Given the description of an element on the screen output the (x, y) to click on. 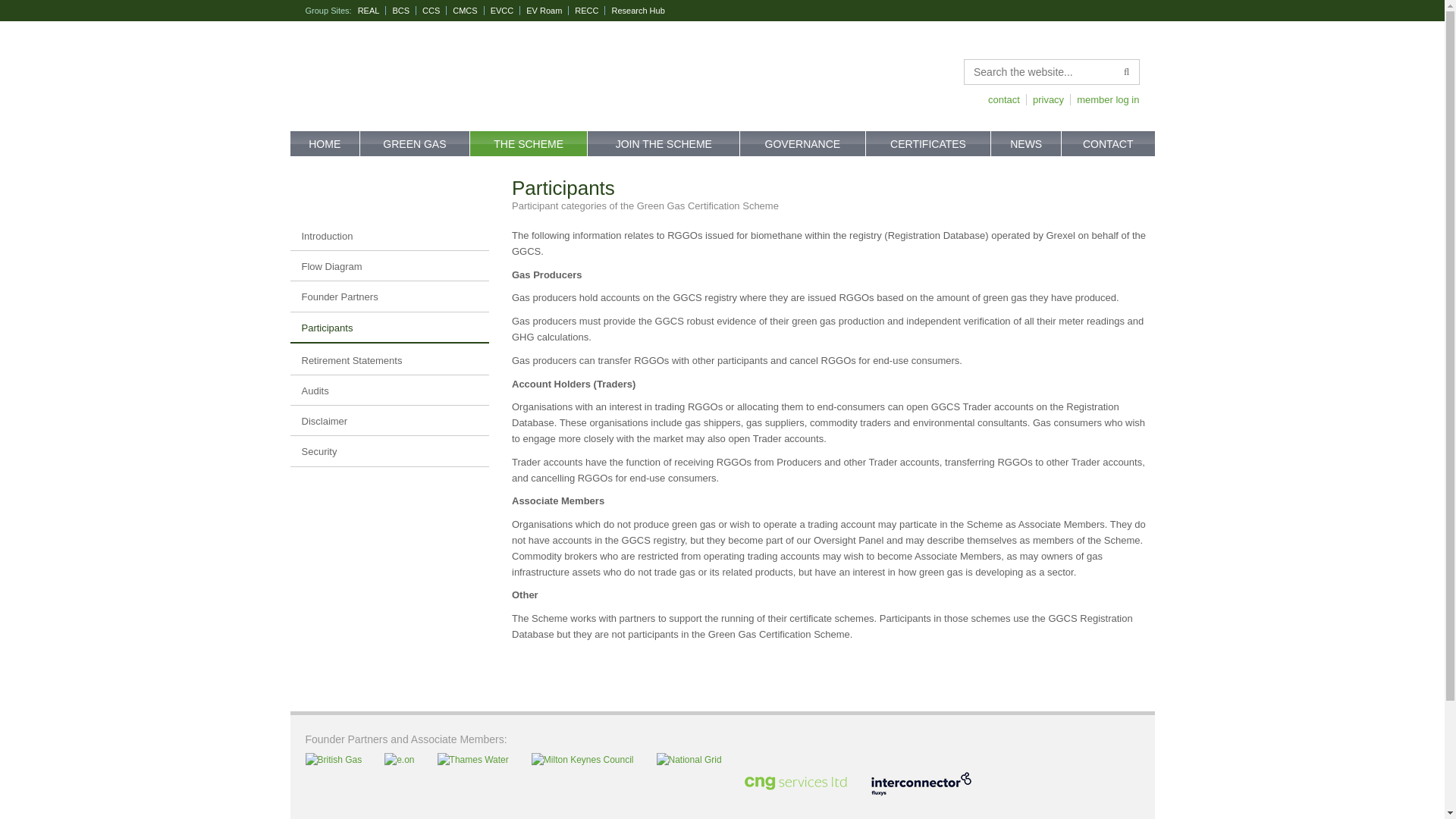
GREEN GAS (414, 143)
Research Hub (640, 10)
BCS (403, 10)
Electric Vehicle Consumer Code for Home Chargepoints (505, 10)
EVCC (505, 10)
member log in (1104, 99)
EV Roam (547, 10)
Group Sites: (327, 10)
Renewable Energy Assurance Ltd (372, 10)
privacy (1045, 99)
